Given the description of an element on the screen output the (x, y) to click on. 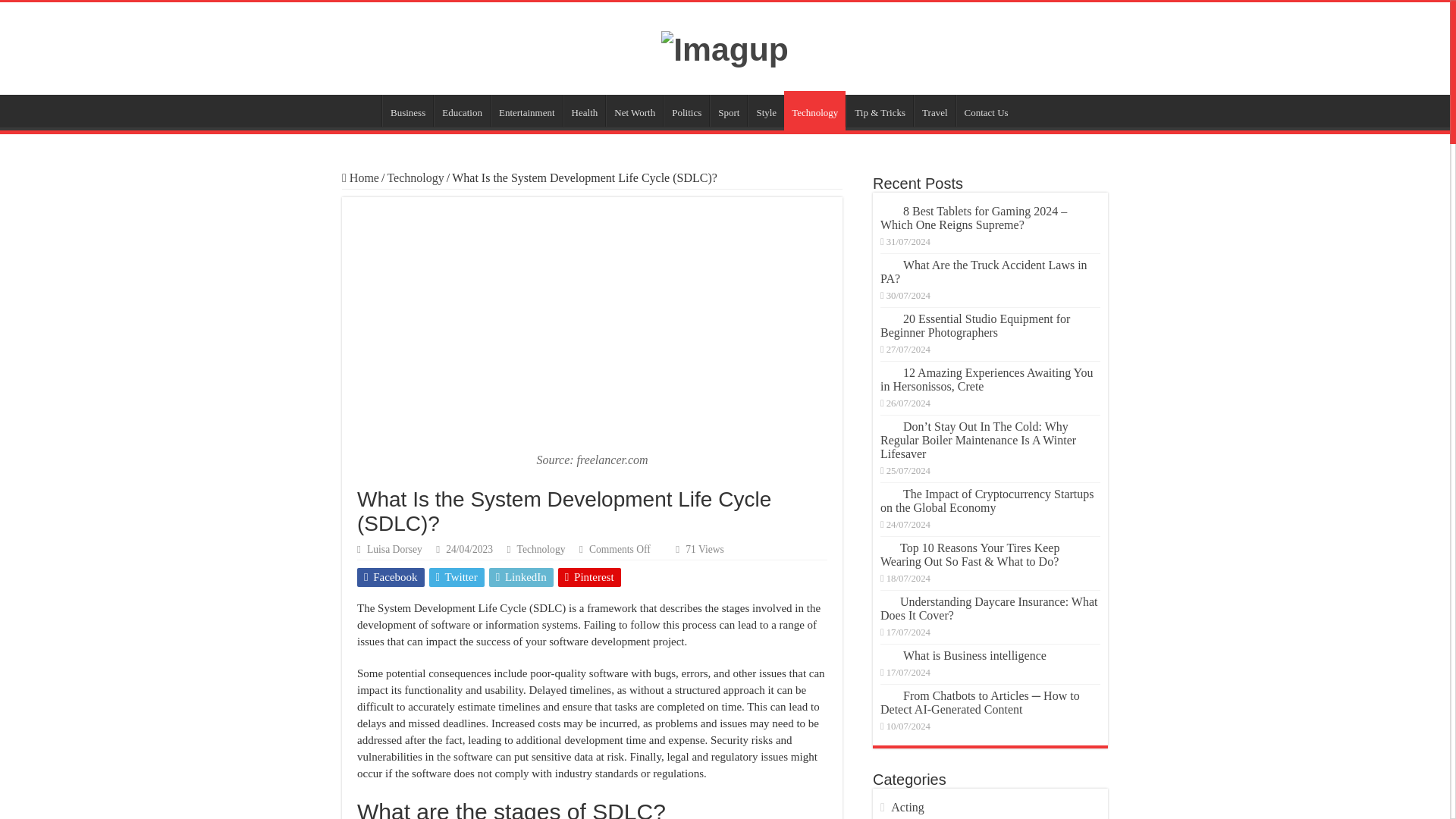
Home (361, 110)
Sport (728, 110)
Technology (541, 549)
Home (360, 177)
Pinterest (589, 577)
Health (584, 110)
Technology (814, 110)
Luisa Dorsey (394, 549)
Technology (415, 177)
Facebook (390, 577)
